Given the description of an element on the screen output the (x, y) to click on. 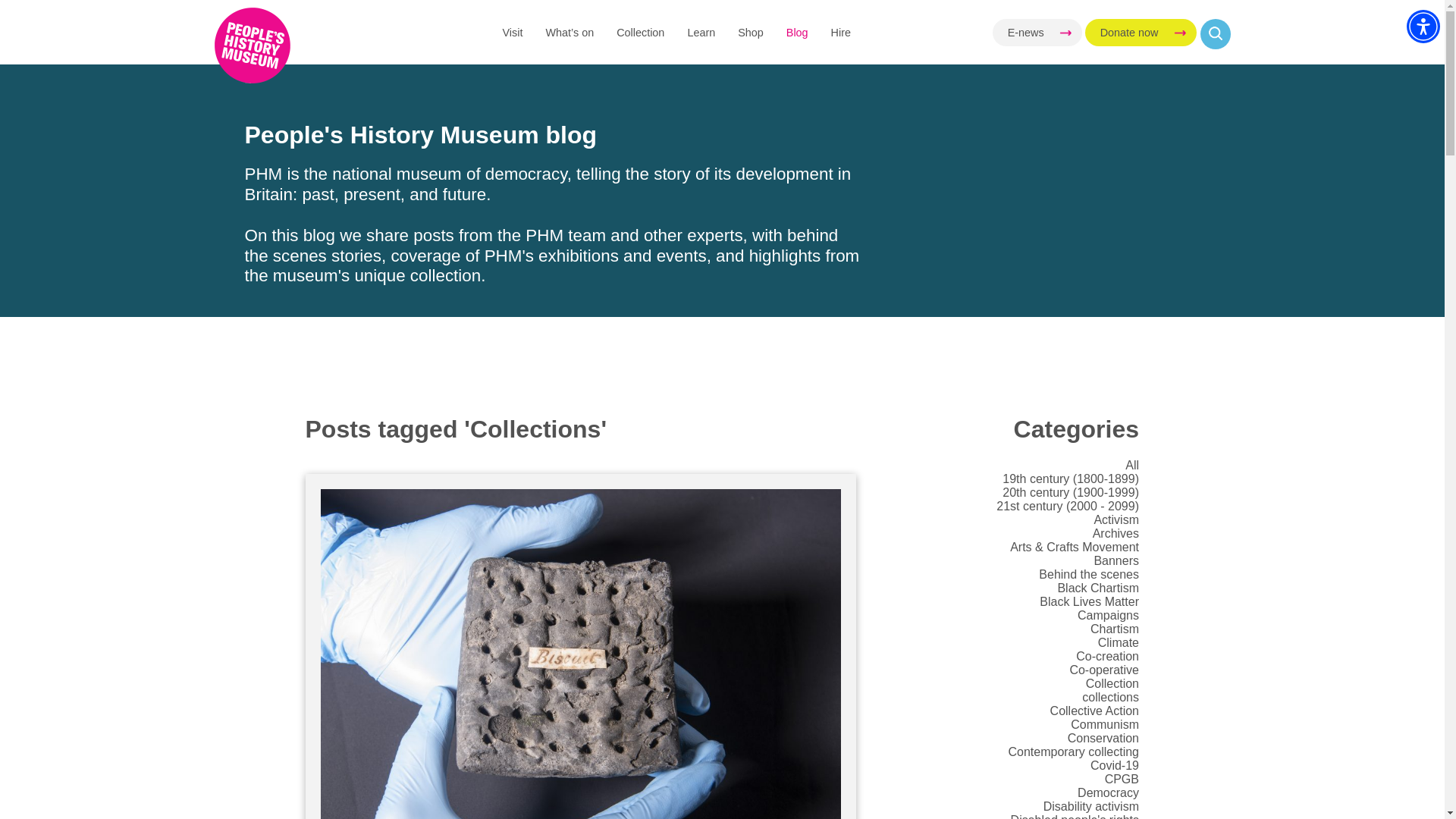
Visit (512, 32)
Learn (700, 32)
Blog (797, 32)
E-news (1036, 31)
Accessibility Menu (1422, 26)
Donate now (1140, 31)
Collection (639, 32)
Shop (750, 32)
Hire (840, 32)
